Given the description of an element on the screen output the (x, y) to click on. 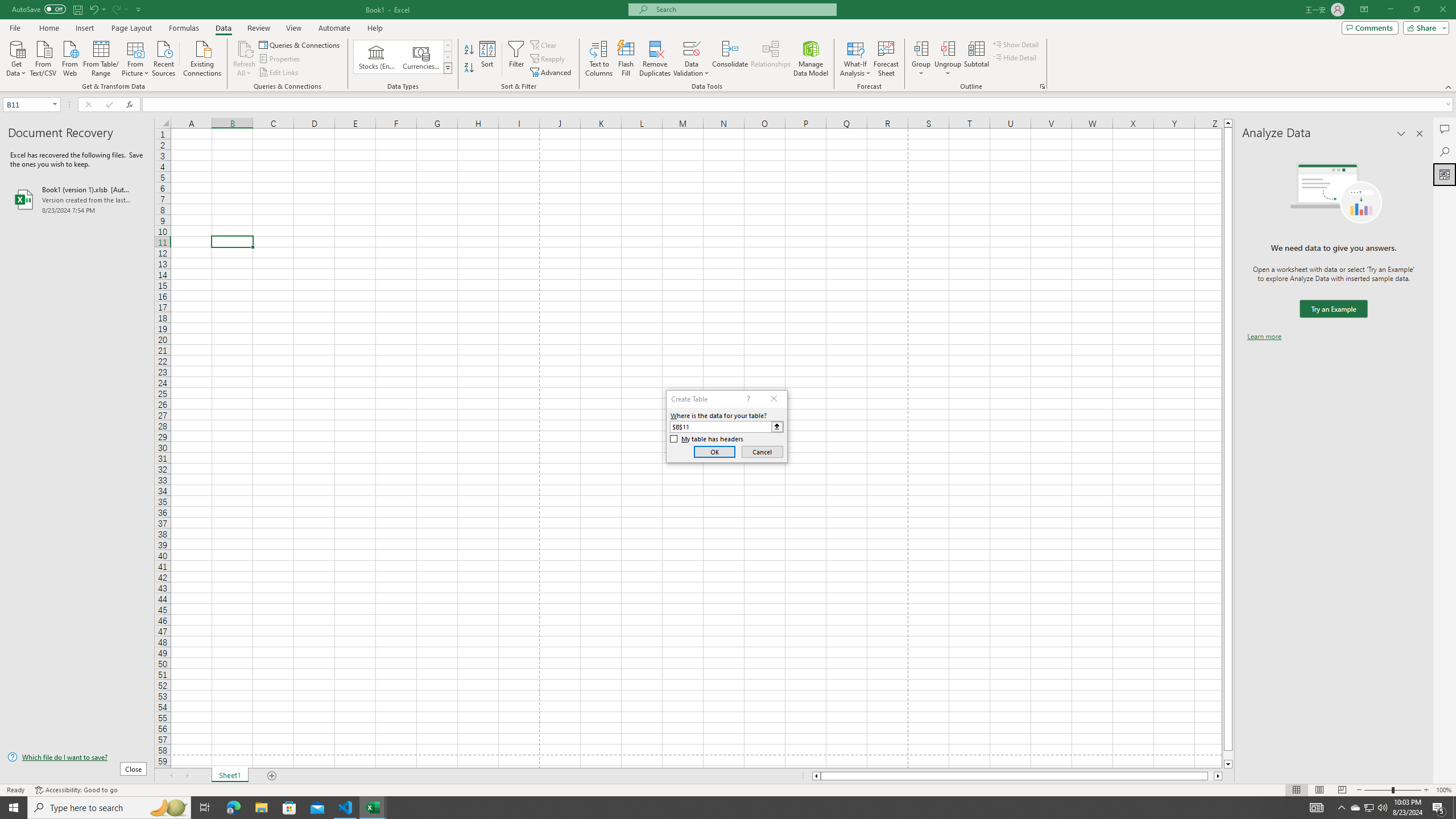
Manage Data Model (810, 58)
Text to Columns... (598, 58)
Advanced... (551, 72)
We need data to give you answers. Try an Example (1333, 308)
From Text/CSV (43, 57)
From Web (69, 57)
Data Types (448, 67)
